Given the description of an element on the screen output the (x, y) to click on. 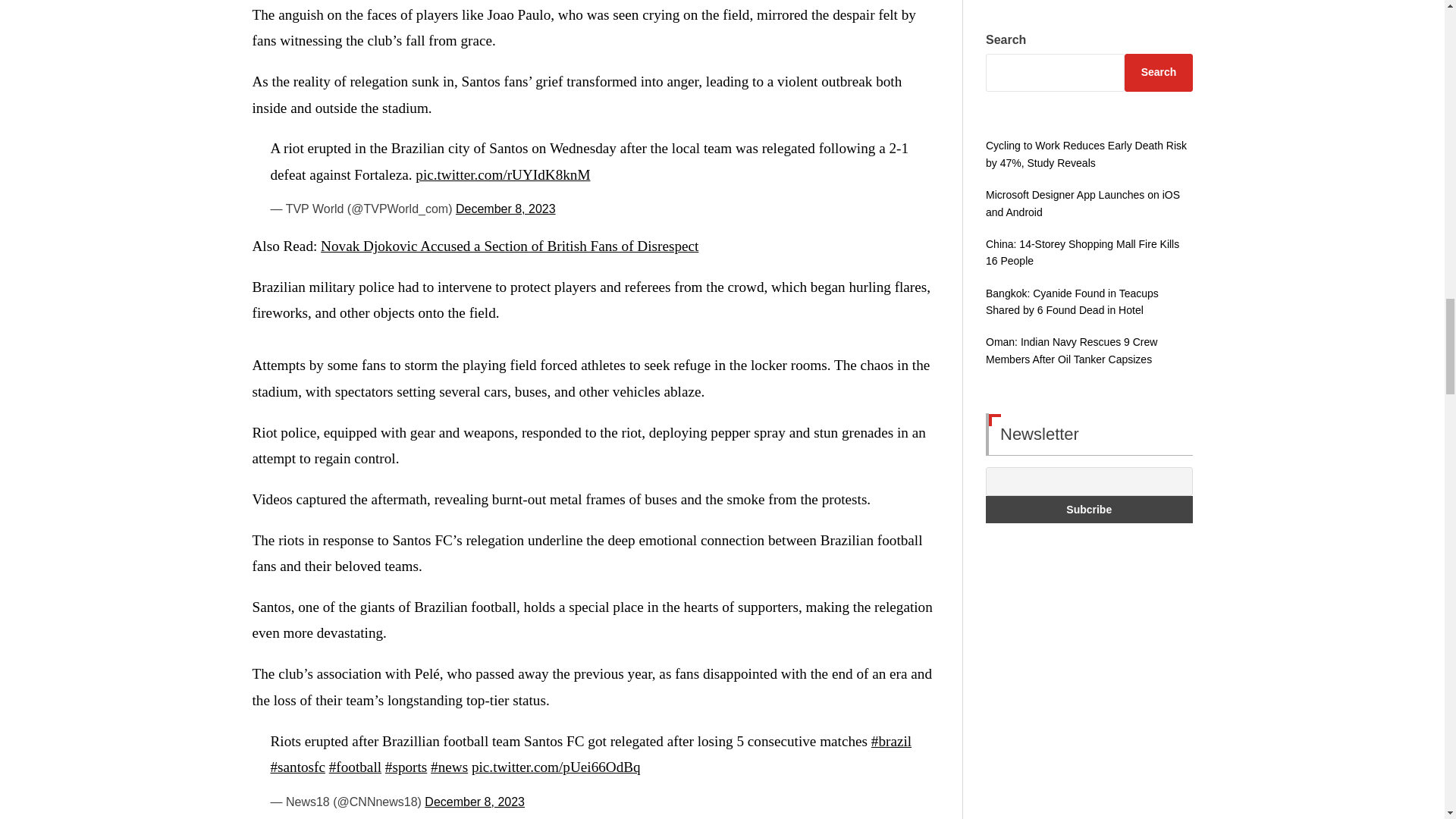
December 8, 2023 (505, 208)
